Given the description of an element on the screen output the (x, y) to click on. 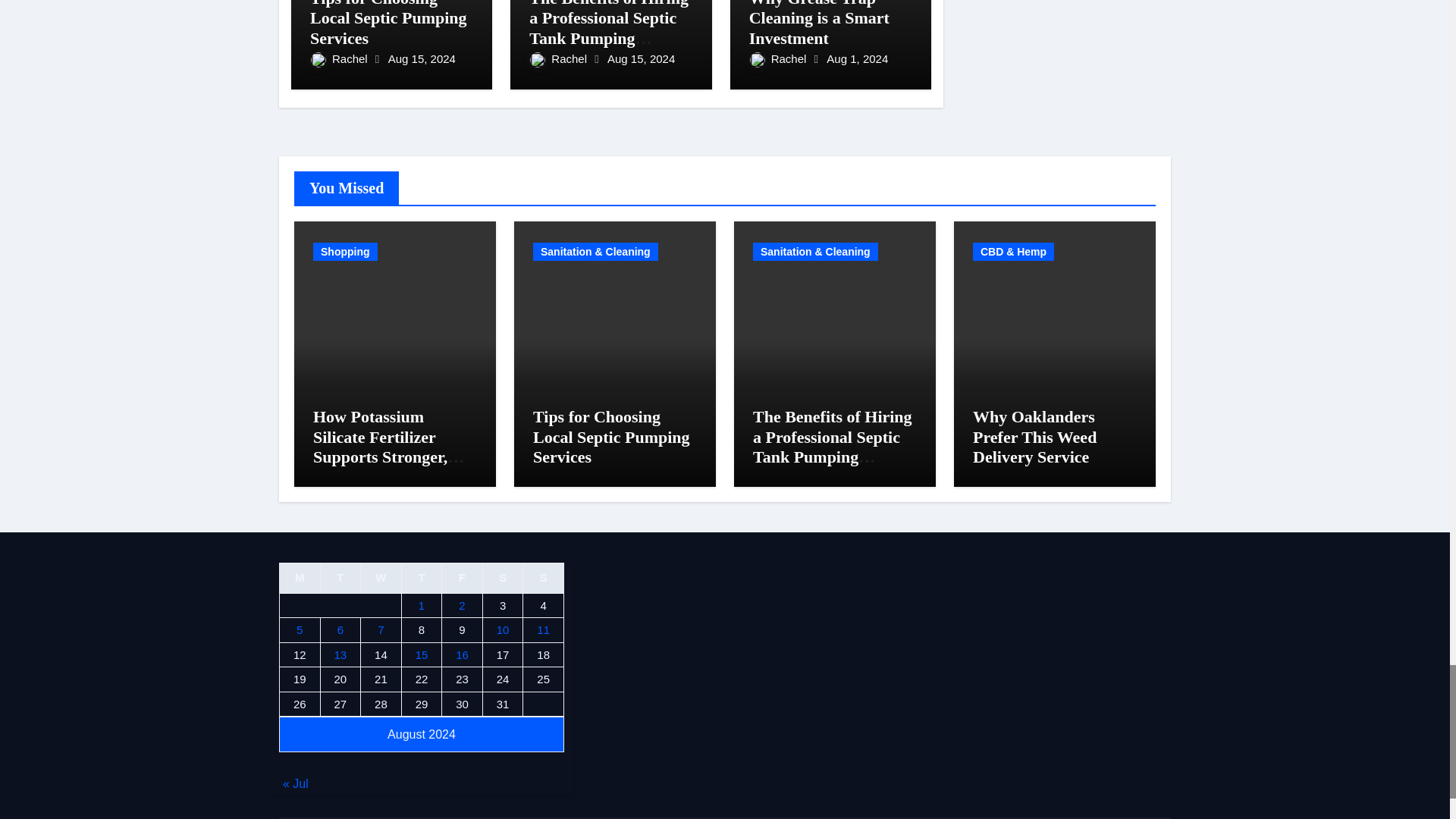
Tuesday (340, 577)
Monday (299, 577)
Wednesday (381, 577)
Thursday (421, 577)
Permalink to: Why Grease Trap Cleaning is a Smart Investment (819, 23)
